Given the description of an element on the screen output the (x, y) to click on. 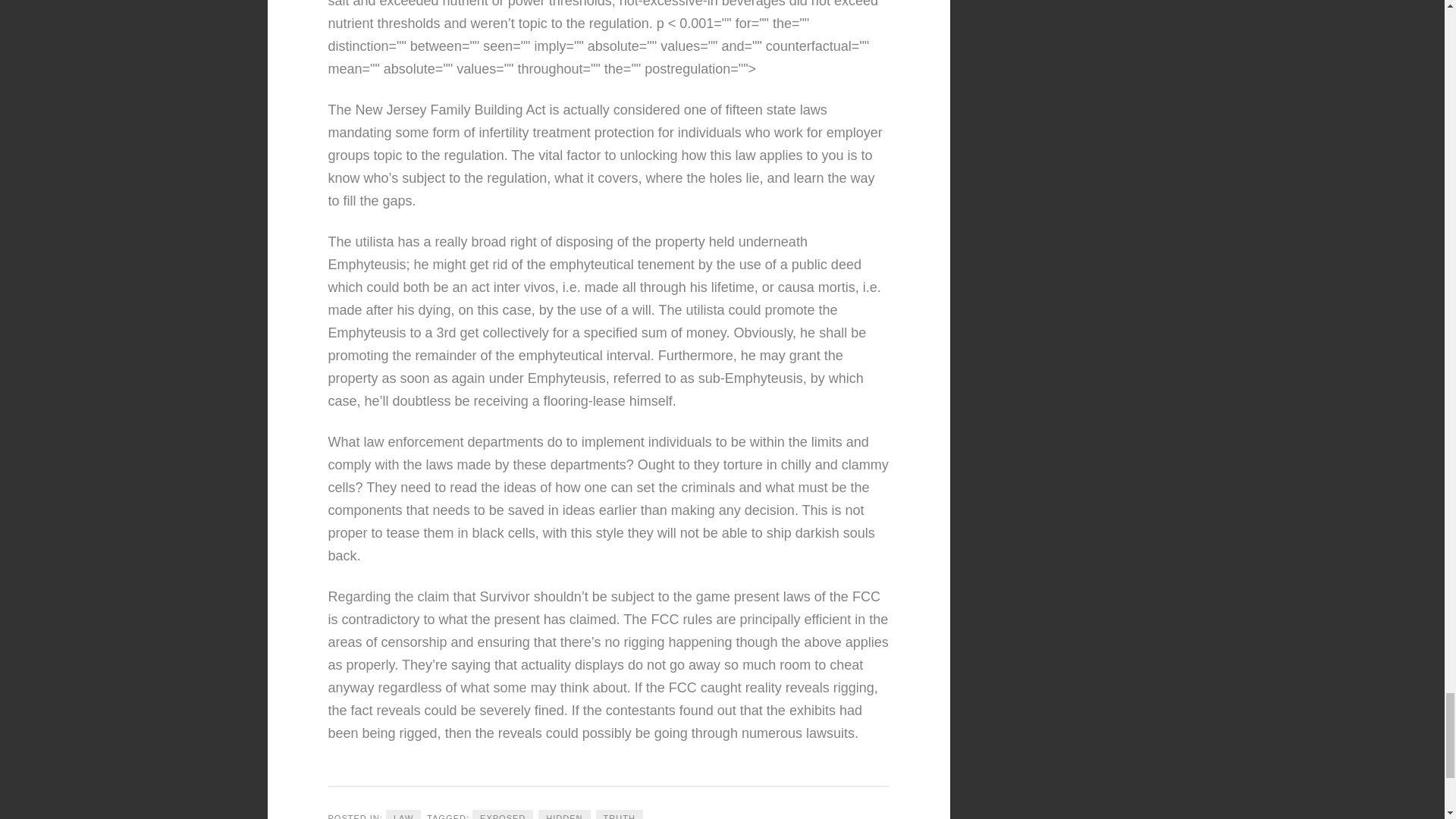
HIDDEN (563, 814)
LAW (402, 814)
TRUTH (619, 814)
EXPOSED (501, 814)
